Given the description of an element on the screen output the (x, y) to click on. 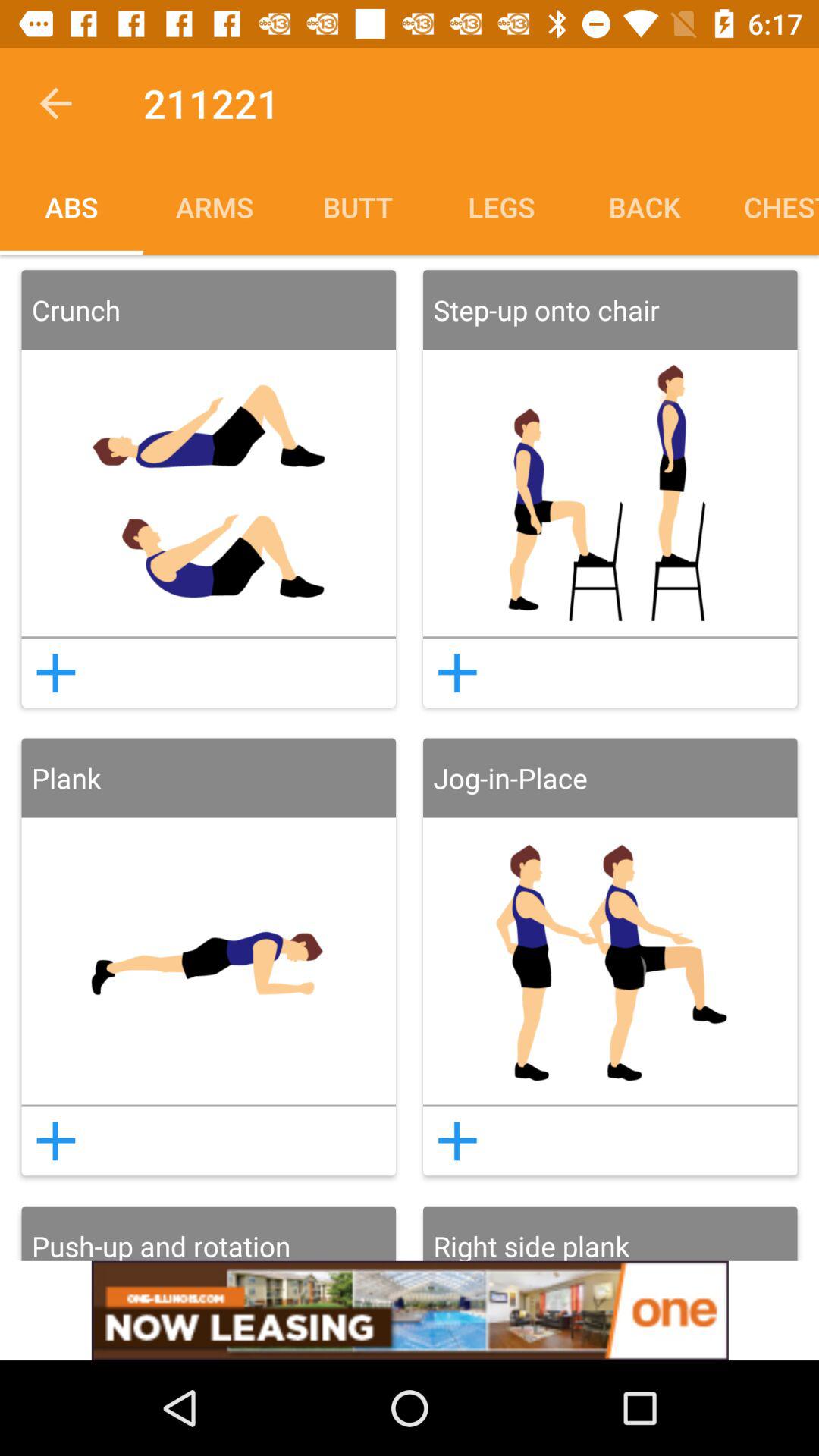
advertisement banner (409, 1310)
